Given the description of an element on the screen output the (x, y) to click on. 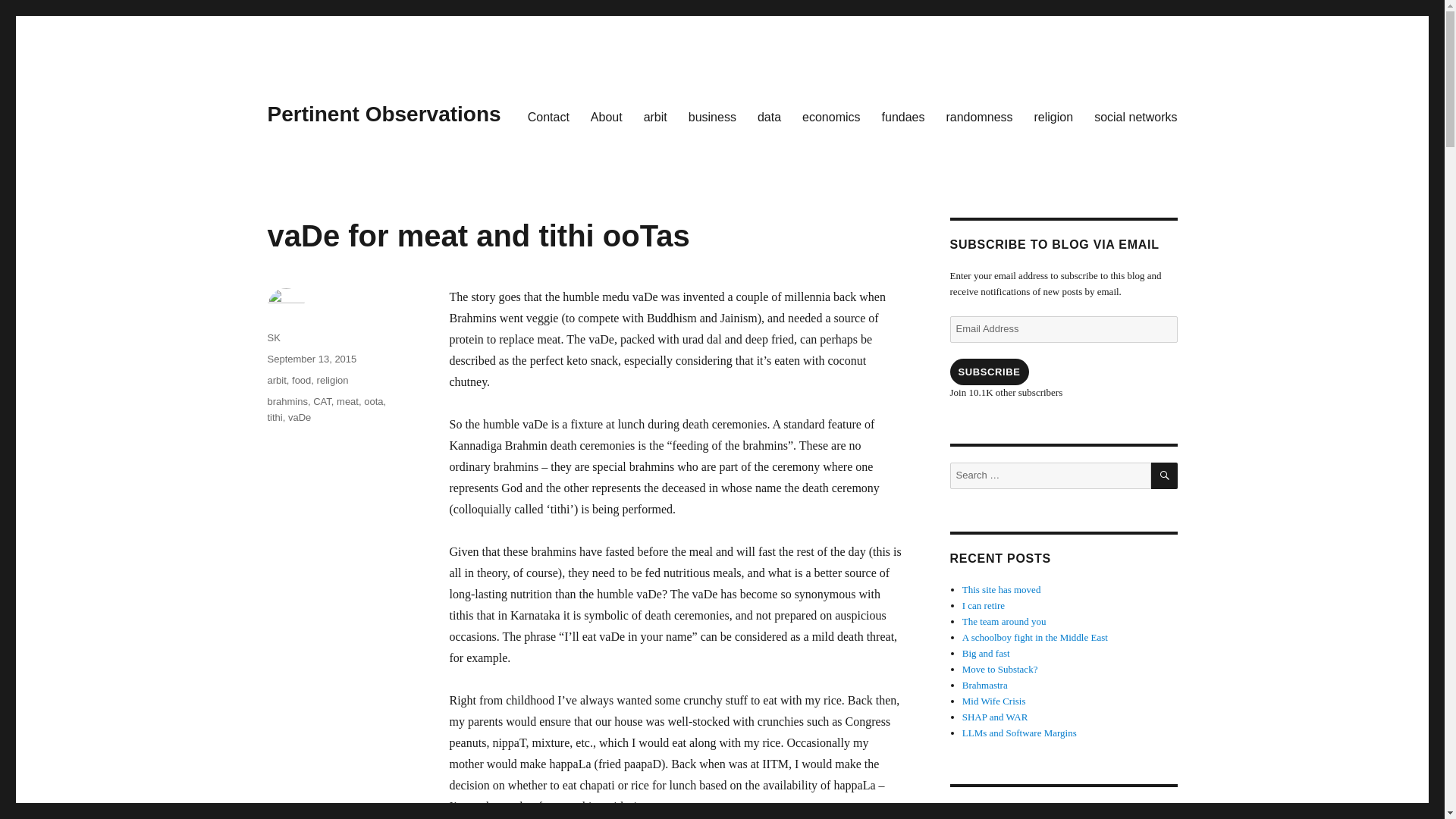
food (301, 379)
social networks (1135, 116)
randomness (978, 116)
religion (1053, 116)
vaDe (299, 417)
oota (373, 401)
business (712, 116)
Pertinent Observations (383, 114)
brahmins (286, 401)
tithi (274, 417)
